Given the description of an element on the screen output the (x, y) to click on. 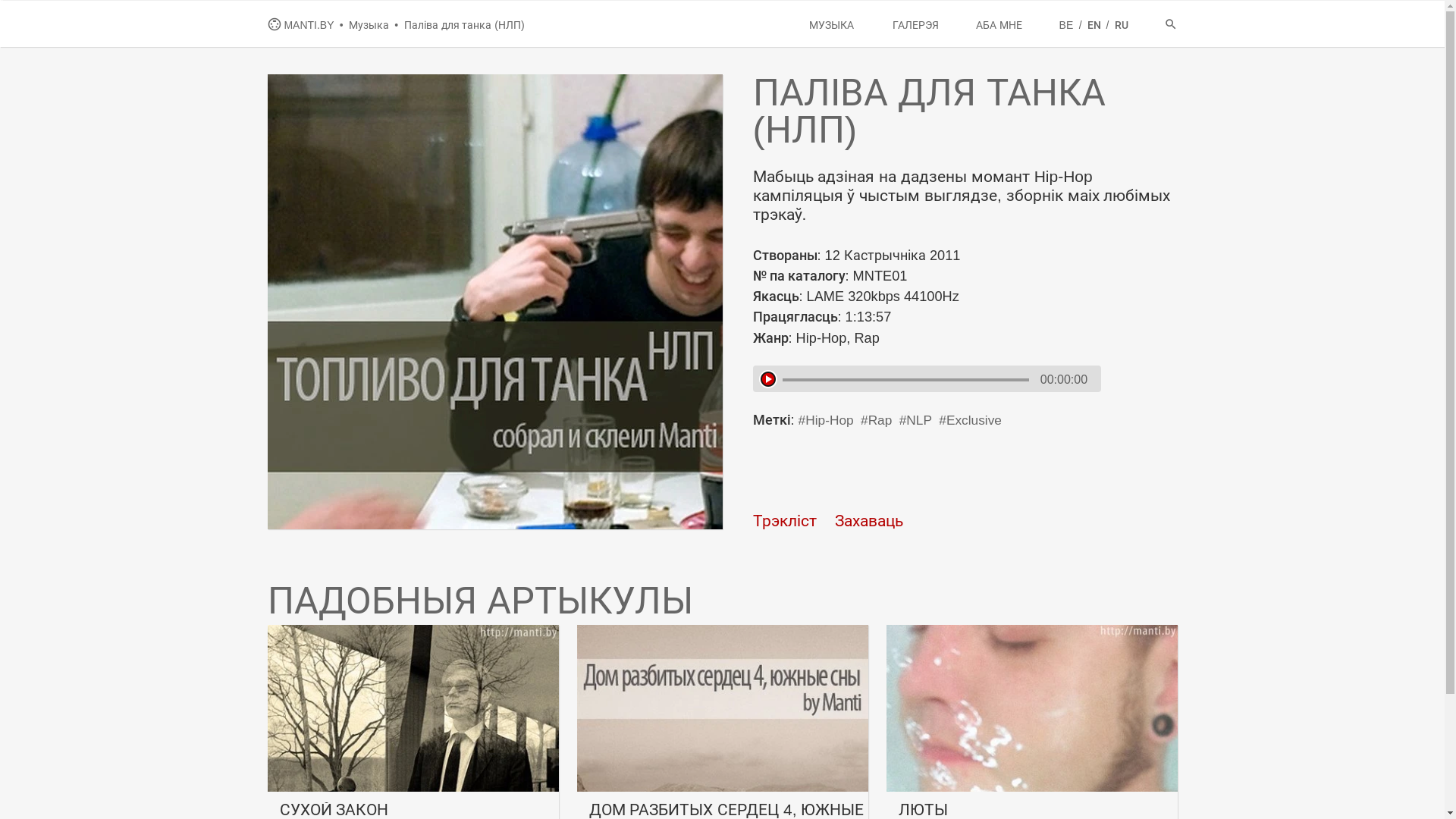
Hip-Hop Element type: text (825, 420)
EN Element type: text (1095, 24)
Exclusive Element type: text (969, 420)
settings_input_svideo MANTI.BY Element type: text (301, 24)
Rap Element type: text (875, 420)
RU Element type: text (1121, 24)
NLP Element type: text (915, 420)
